Given the description of an element on the screen output the (x, y) to click on. 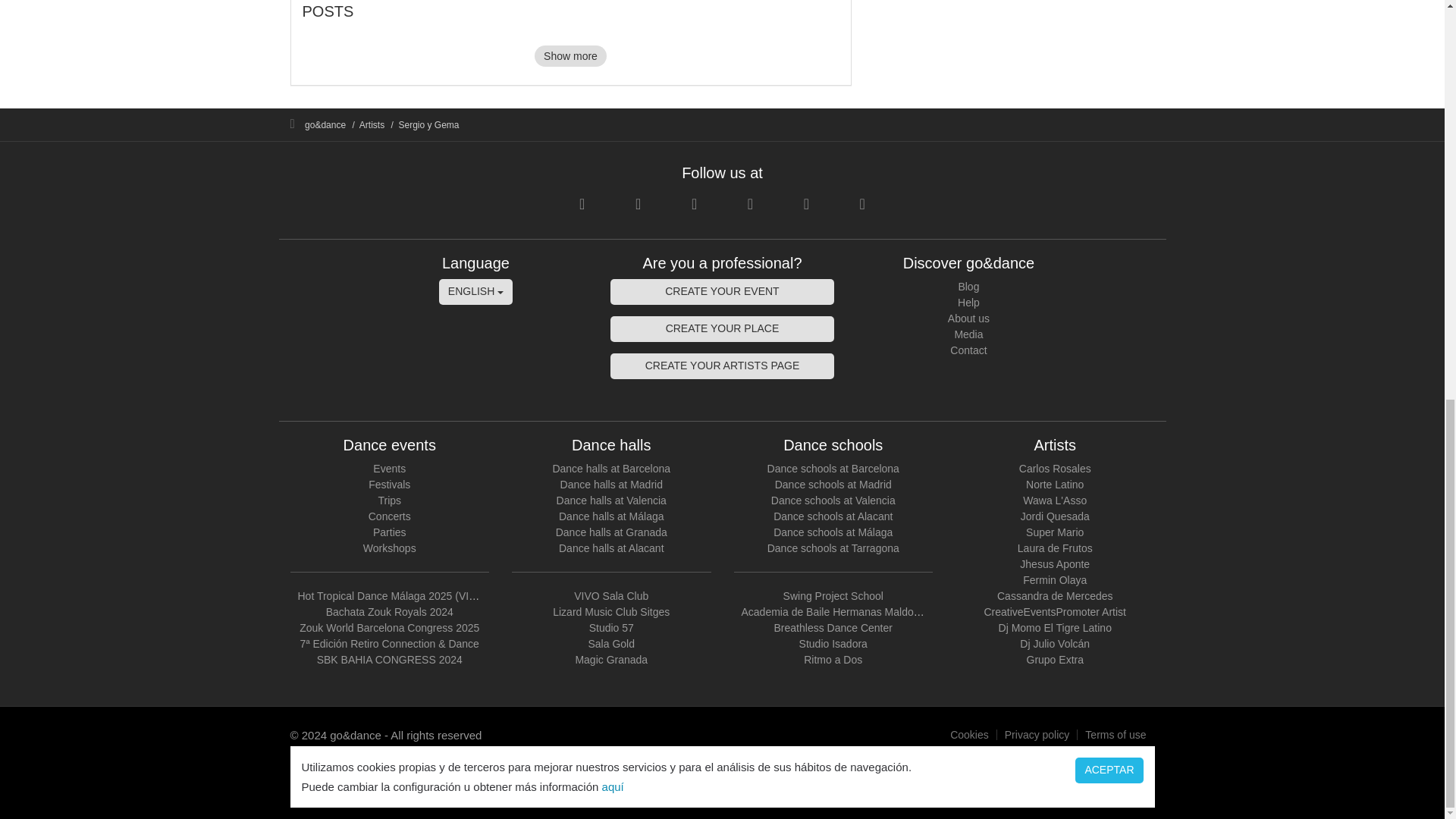
Show more (570, 55)
Sergio y Gema (429, 124)
Artists (371, 124)
ACEPTAR (1108, 2)
